Given the description of an element on the screen output the (x, y) to click on. 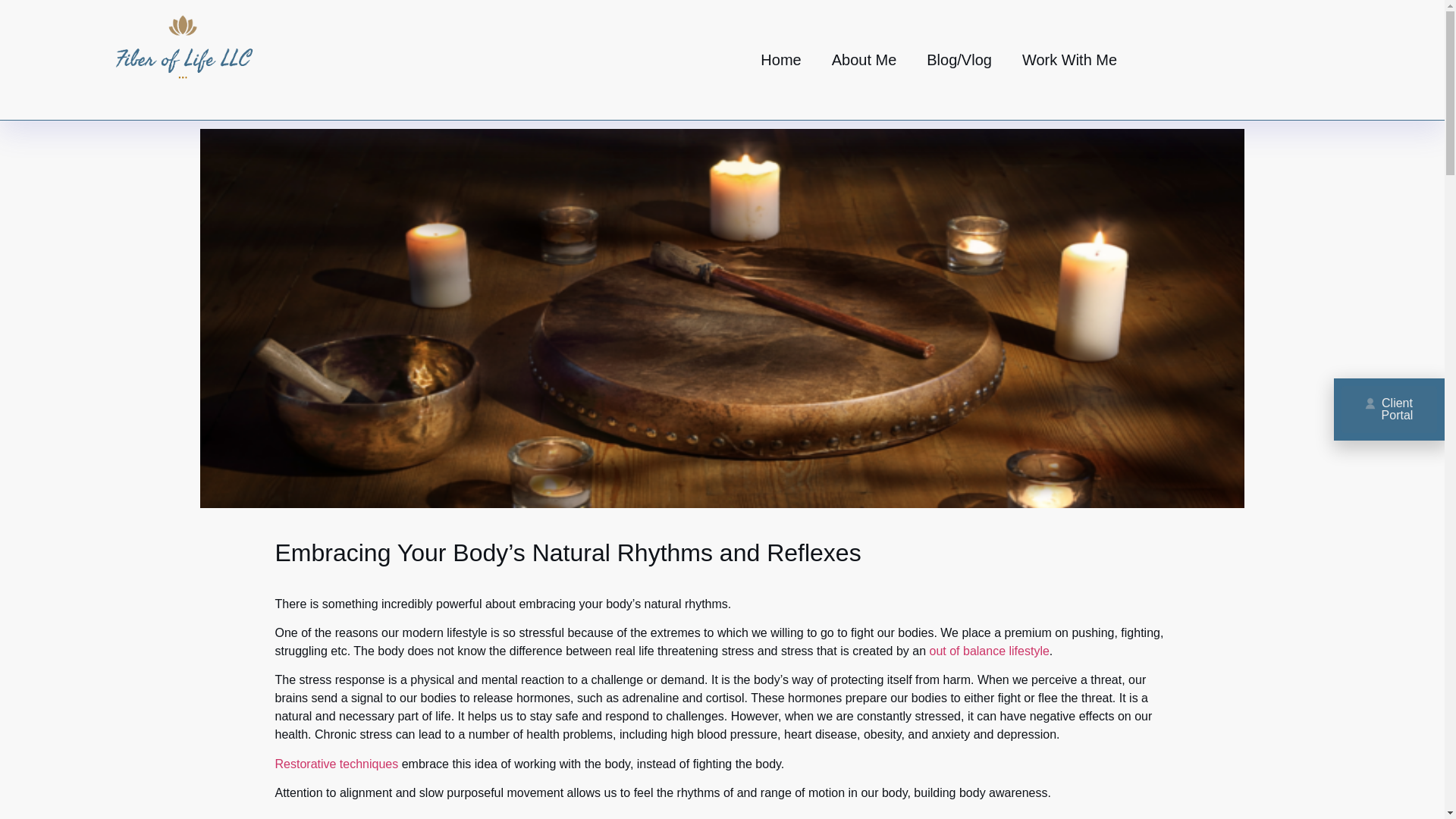
About Me (864, 59)
out of balance lifestyle (989, 650)
cropped-cropped-FOL19201080noback.png (179, 59)
Restorative techniques (336, 763)
Home (780, 59)
Work With Me (1069, 59)
